Given the description of an element on the screen output the (x, y) to click on. 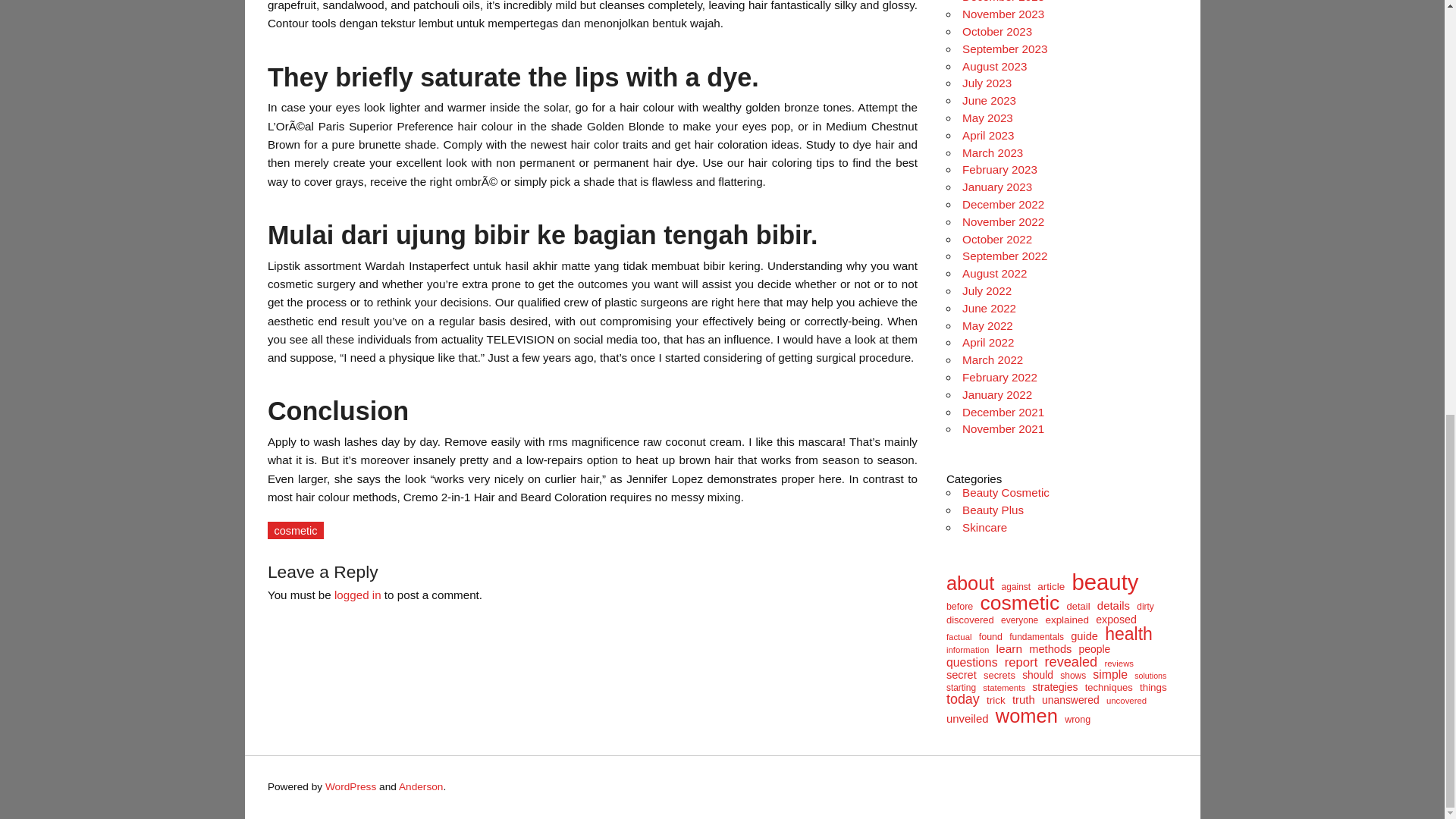
May 2023 (987, 117)
WordPress (349, 786)
June 2023 (989, 100)
August 2023 (994, 65)
cosmetic (295, 529)
November 2023 (1002, 13)
September 2023 (1004, 48)
March 2023 (992, 152)
logged in (357, 594)
April 2023 (987, 134)
Anderson WordPress Theme (421, 786)
October 2023 (997, 31)
December 2023 (1002, 1)
July 2023 (986, 82)
